Given the description of an element on the screen output the (x, y) to click on. 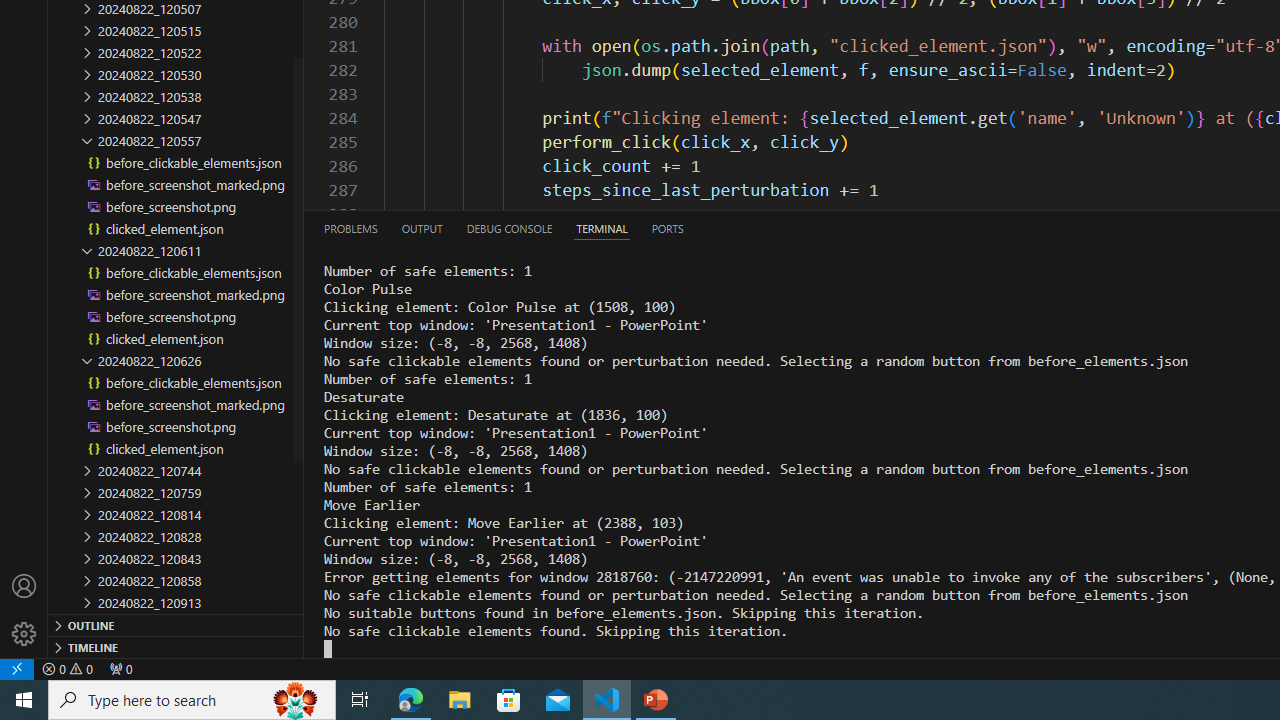
Timeline Section (175, 646)
Debug Console (Ctrl+Shift+Y) (509, 228)
No Ports Forwarded (120, 668)
No Problems (67, 668)
Terminal (Ctrl+`) (602, 228)
Manage (24, 633)
Manage (24, 610)
Problems (Ctrl+Shift+M) (351, 228)
remote (17, 668)
Ports (667, 228)
Accounts (24, 585)
Output (Ctrl+Shift+U) (421, 228)
Outline Section (175, 624)
